Given the description of an element on the screen output the (x, y) to click on. 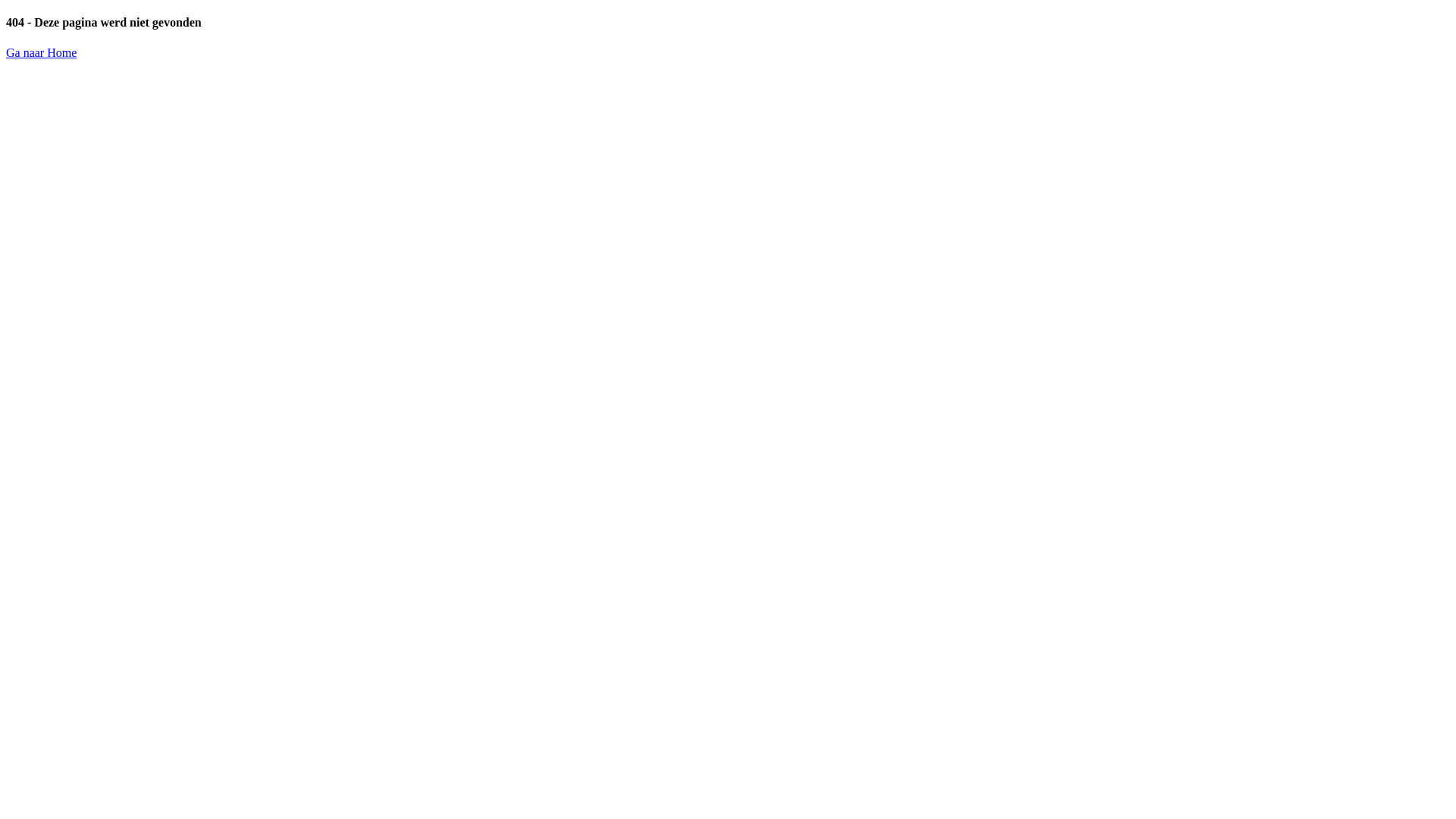
Ga naar Home Element type: text (41, 52)
